Given the description of an element on the screen output the (x, y) to click on. 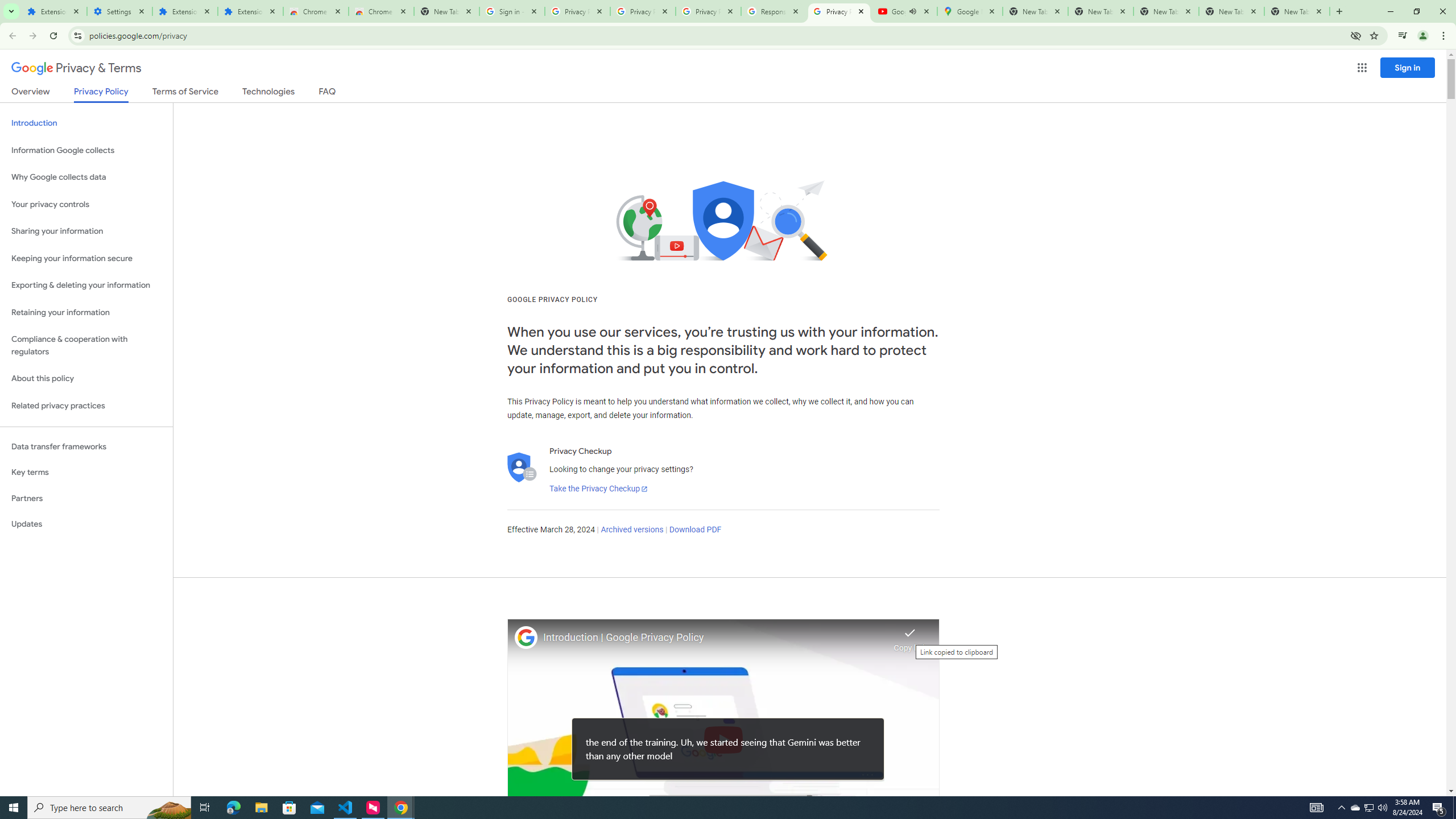
Keeping your information secure (86, 258)
Terms of Service (184, 93)
Chrome Web Store (315, 11)
New Tab (1297, 11)
Partners (86, 497)
Retaining your information (86, 312)
Extensions (184, 11)
Data transfer frameworks (86, 446)
Updates (86, 524)
Extensions (250, 11)
